Given the description of an element on the screen output the (x, y) to click on. 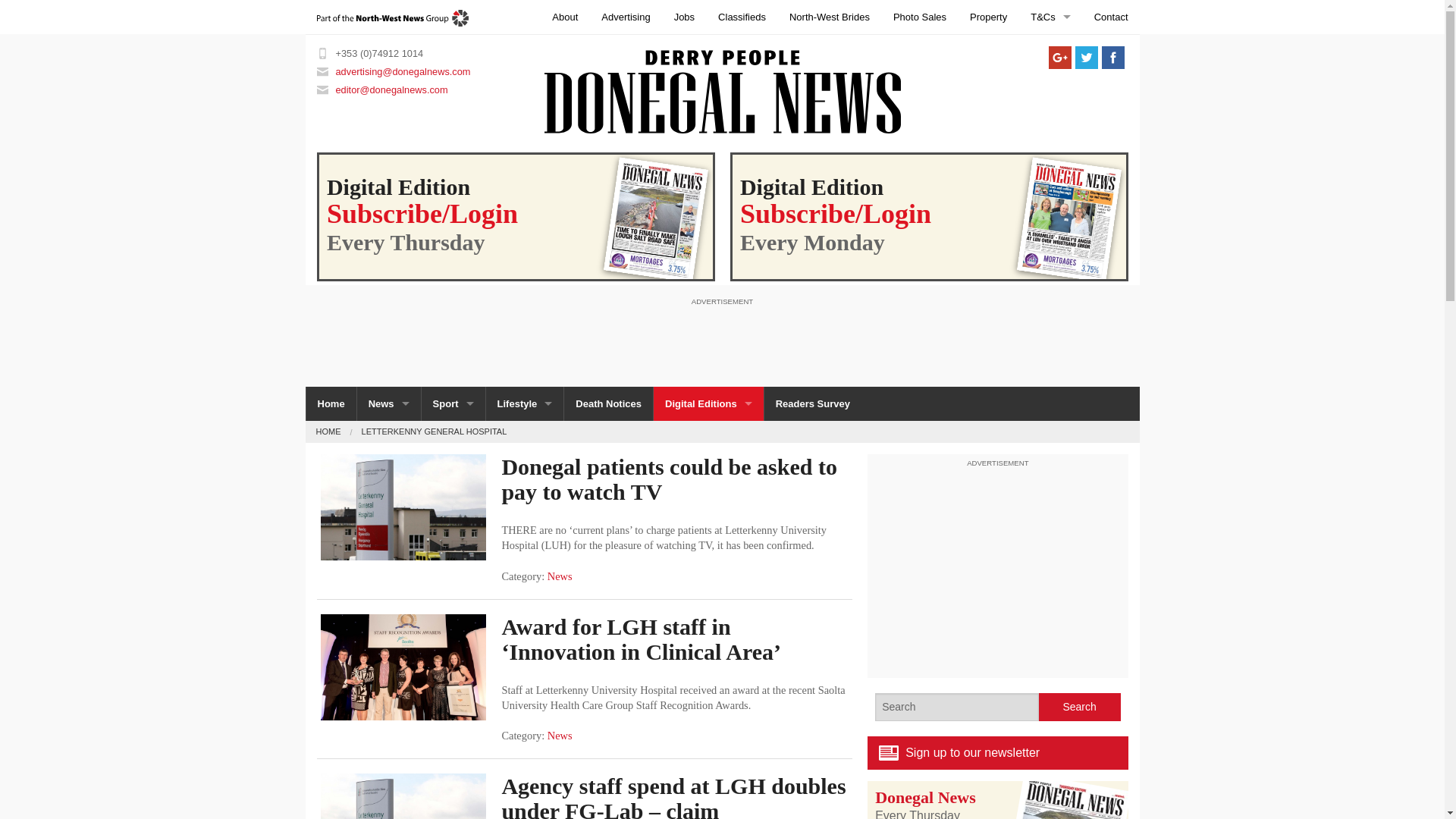
Search (1080, 706)
3rd party ad content (721, 341)
View all posts in News (559, 576)
View all posts in News (559, 735)
3rd party ad content (997, 567)
Go to Donegal News. (327, 430)
